Given the description of an element on the screen output the (x, y) to click on. 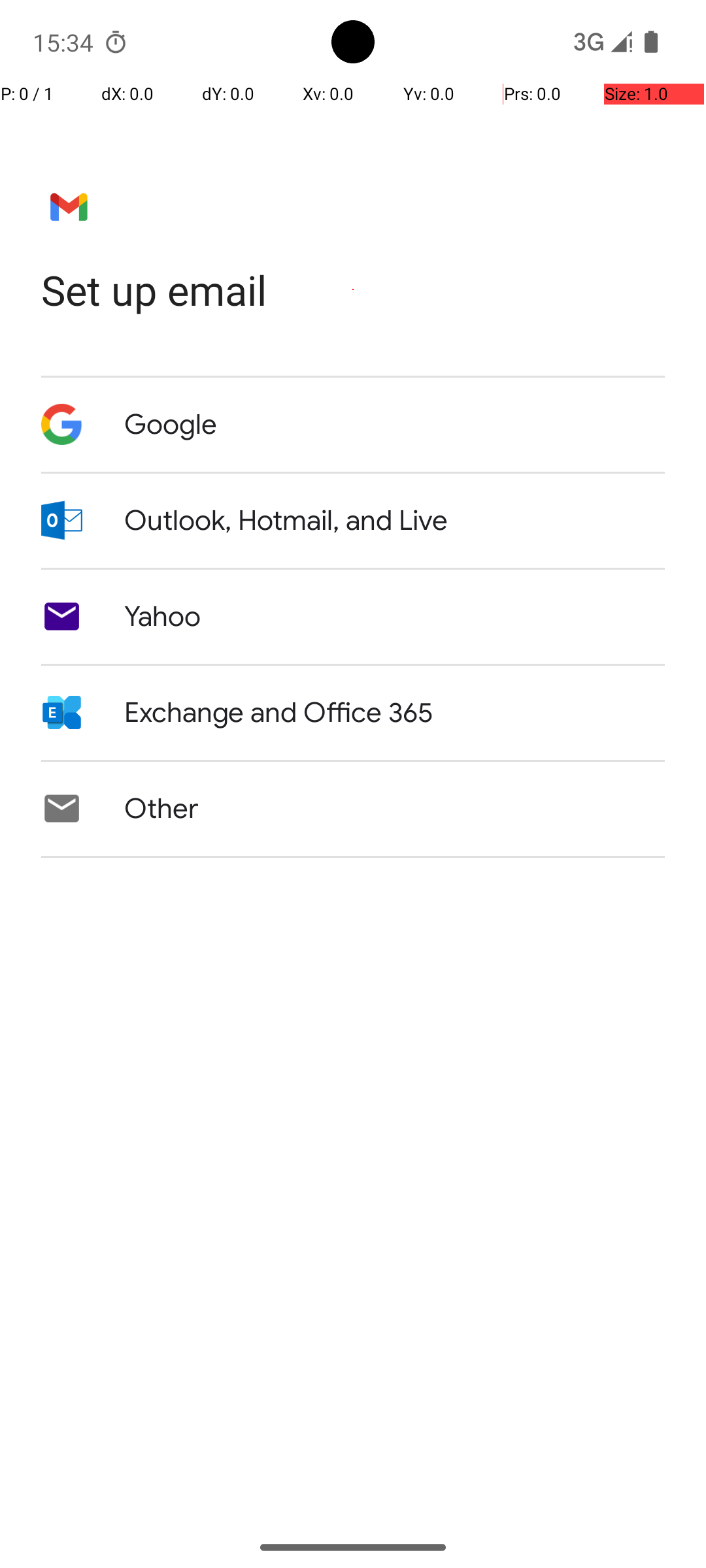
Set up email Element type: android.widget.TextView (352, 289)
Outlook, Hotmail, and Live Element type: android.widget.TextView (286, 520)
Exchange and Office 365 Element type: android.widget.TextView (278, 712)
